Given the description of an element on the screen output the (x, y) to click on. 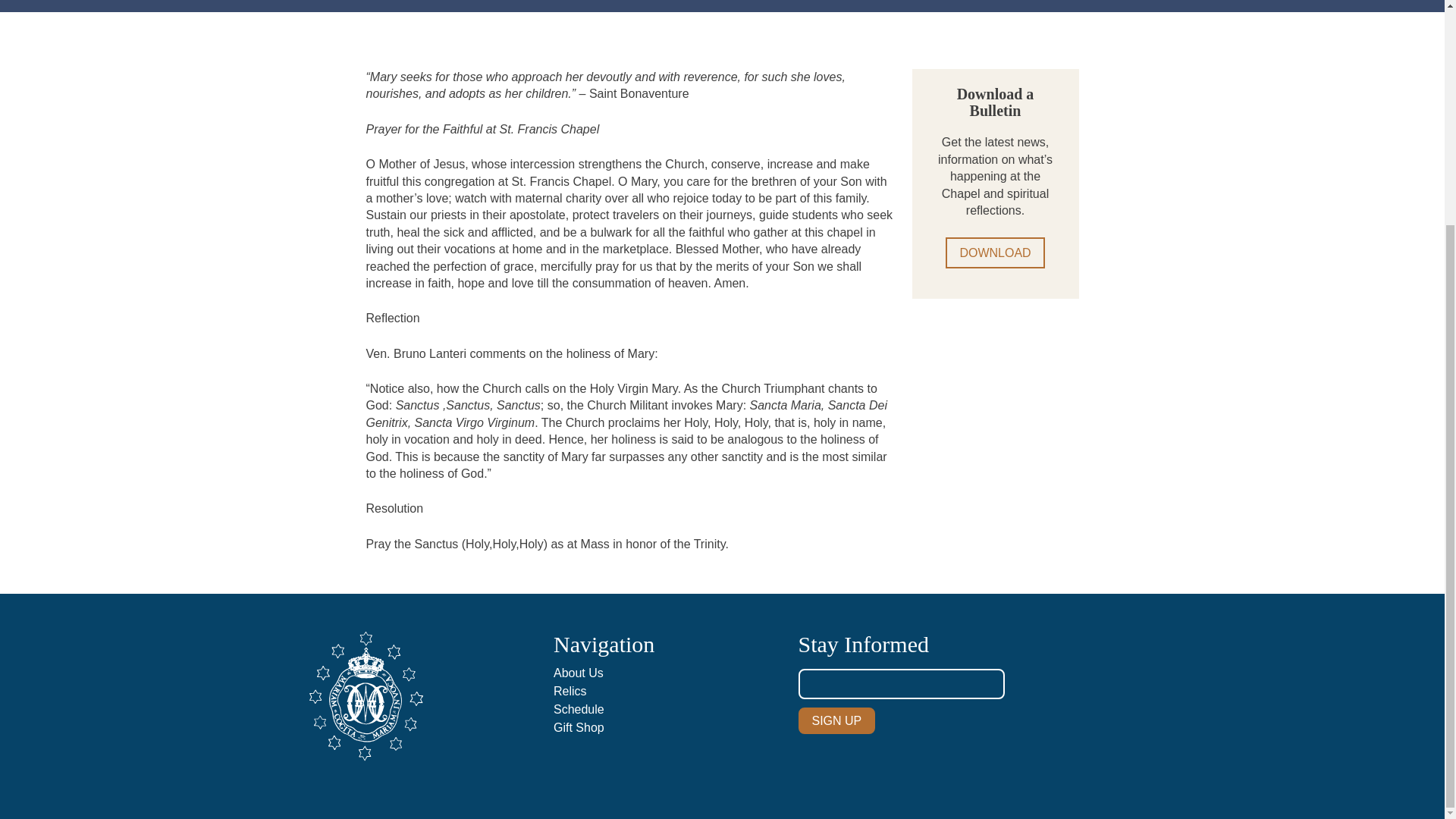
DOWNLOAD (993, 252)
Sign Up (836, 720)
